Given the description of an element on the screen output the (x, y) to click on. 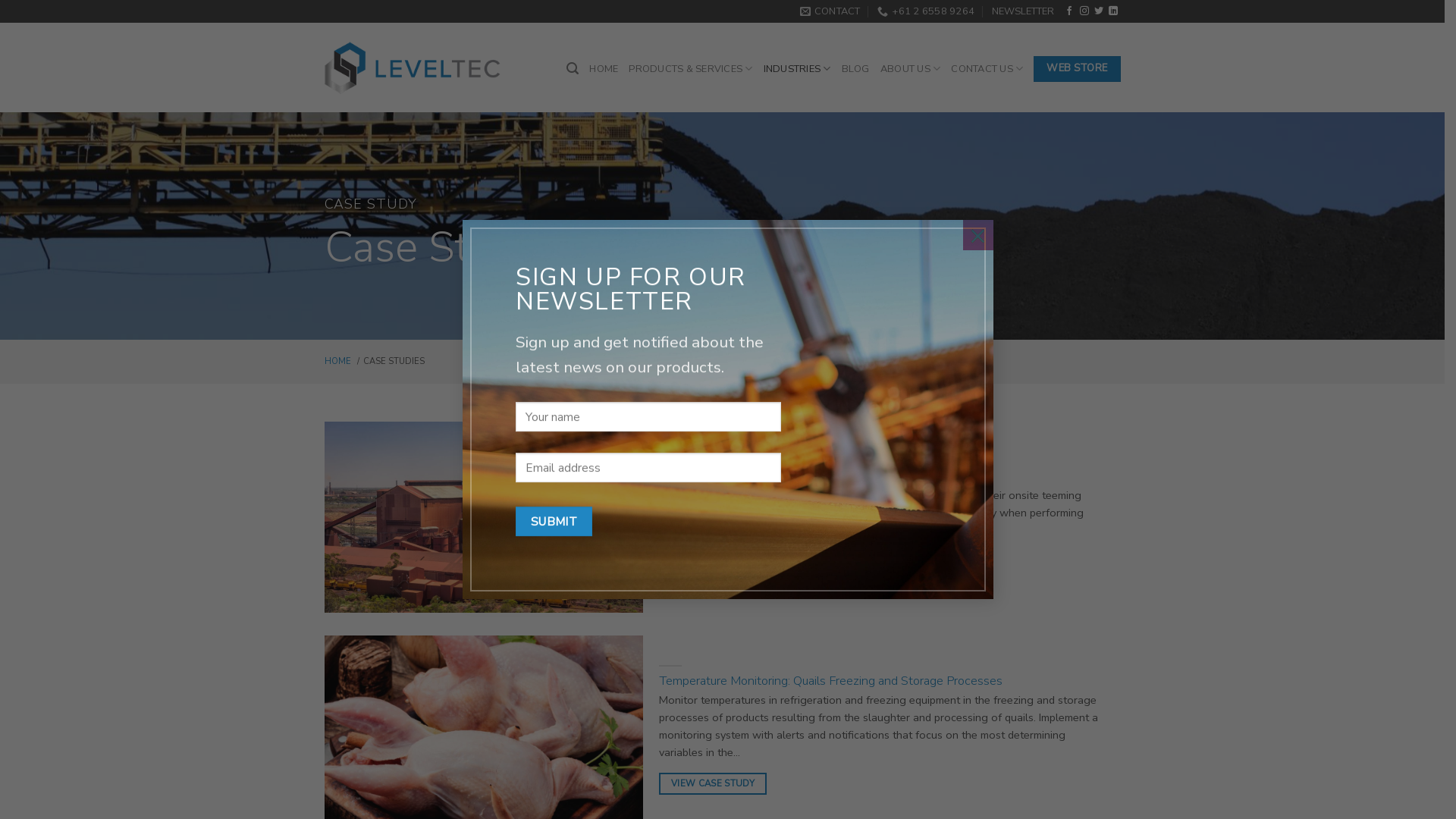
VIEW CASE STUDY Element type: text (712, 783)
CONTACT Element type: text (830, 11)
NEWSLETTER Element type: text (1022, 11)
Custom Switch Solution Delivered On Time and To Budget Element type: text (816, 475)
Follow on Instagram Element type: hover (1083, 11)
WEB STORE Element type: text (1076, 68)
BLOG Element type: text (855, 68)
VIEW CASE STUDY Element type: text (712, 560)
HOME Element type: text (337, 361)
VIEW CASE STUDY Element type: text (716, 556)
ABOUT US Element type: text (910, 68)
Follow on LinkedIn Element type: hover (1112, 11)
PRODUCTS & SERVICES Element type: text (690, 68)
Follow on Facebook Element type: hover (1068, 11)
CONTACT US Element type: text (986, 68)
Leveltec - Mining & Heavy Industrial Equipment Element type: hover (412, 67)
VIEW CASE STUDY Element type: text (716, 778)
Submit Element type: text (553, 521)
INDUSTRIES Element type: text (797, 68)
HOME Element type: text (603, 68)
+61 2 6558 9264 Element type: text (925, 11)
CASE STUDY Element type: text (370, 204)
Follow on Twitter Element type: hover (1098, 11)
